Given the description of an element on the screen output the (x, y) to click on. 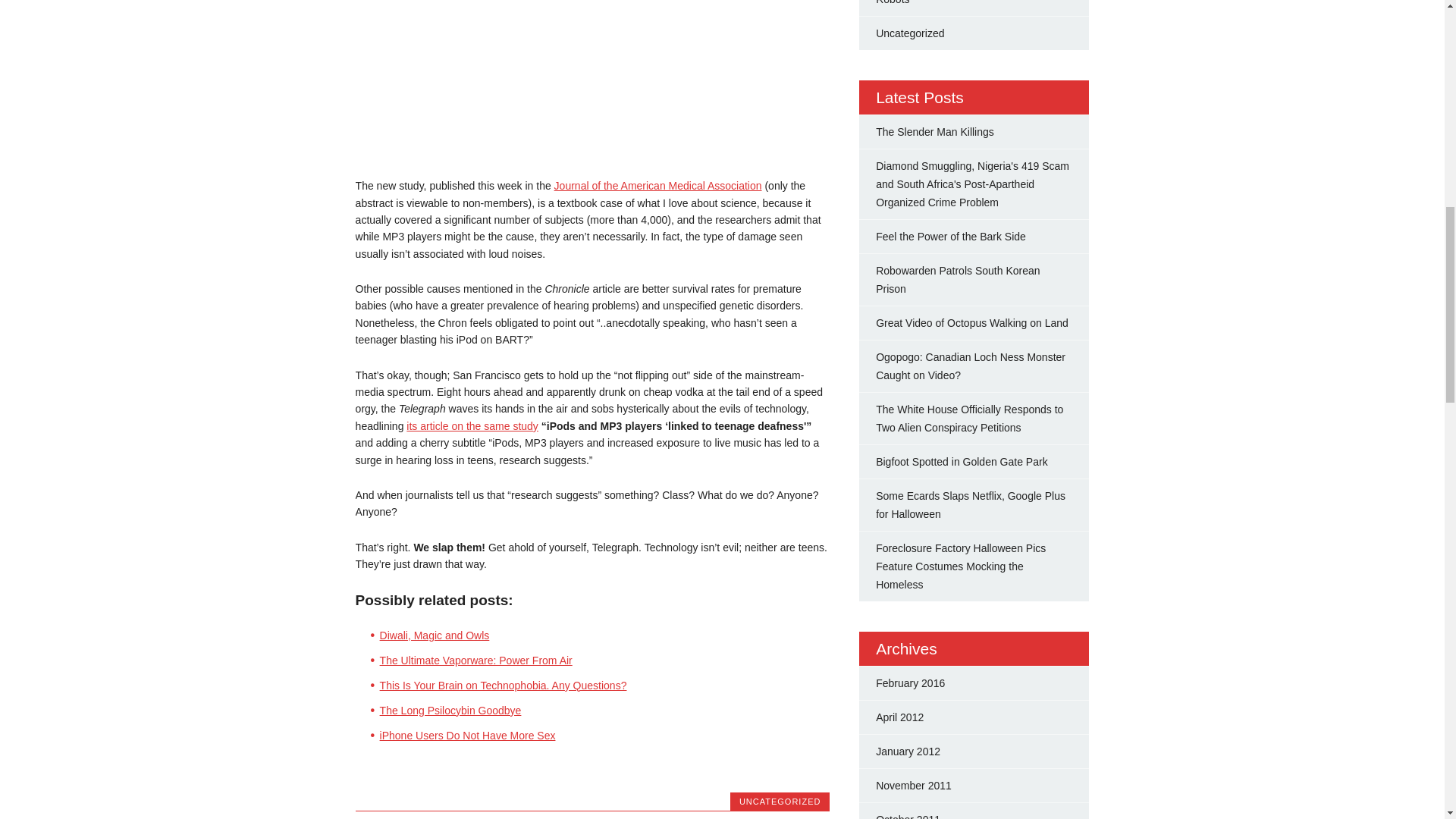
its article on the same study (472, 426)
The Ultimate Vaporware: Power From Air (476, 660)
UNCATEGORIZED (780, 800)
The Long Psilocybin Goodbye (450, 710)
Journal of the American Medical Association (657, 185)
iPhone Users Do Not Have More Sex (468, 735)
The Ultimate Vaporware: Power From Air (476, 660)
Diwali, Magic and Owls (434, 635)
This Is Your Brain on Technophobia. Any Questions? (503, 685)
The Long Psilocybin Goodbye (450, 710)
